Given the description of an element on the screen output the (x, y) to click on. 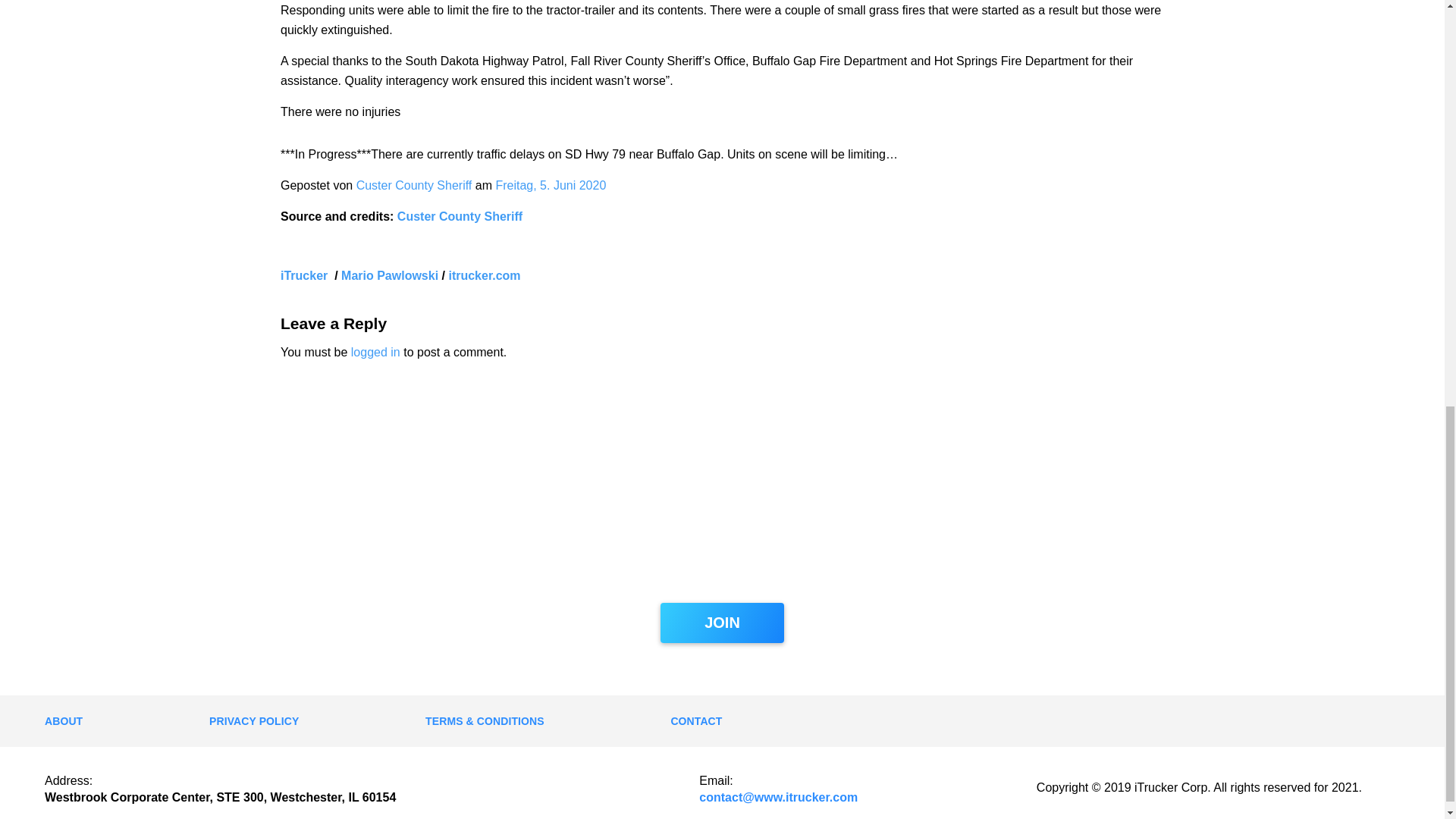
itrucker.com (483, 275)
Freitag, 5. Juni 2020 (550, 185)
Custer County Sheriff (413, 185)
iTrucker  (306, 275)
Custer County Sheriff (459, 215)
Mario Pawlowski (389, 275)
